Given the description of an element on the screen output the (x, y) to click on. 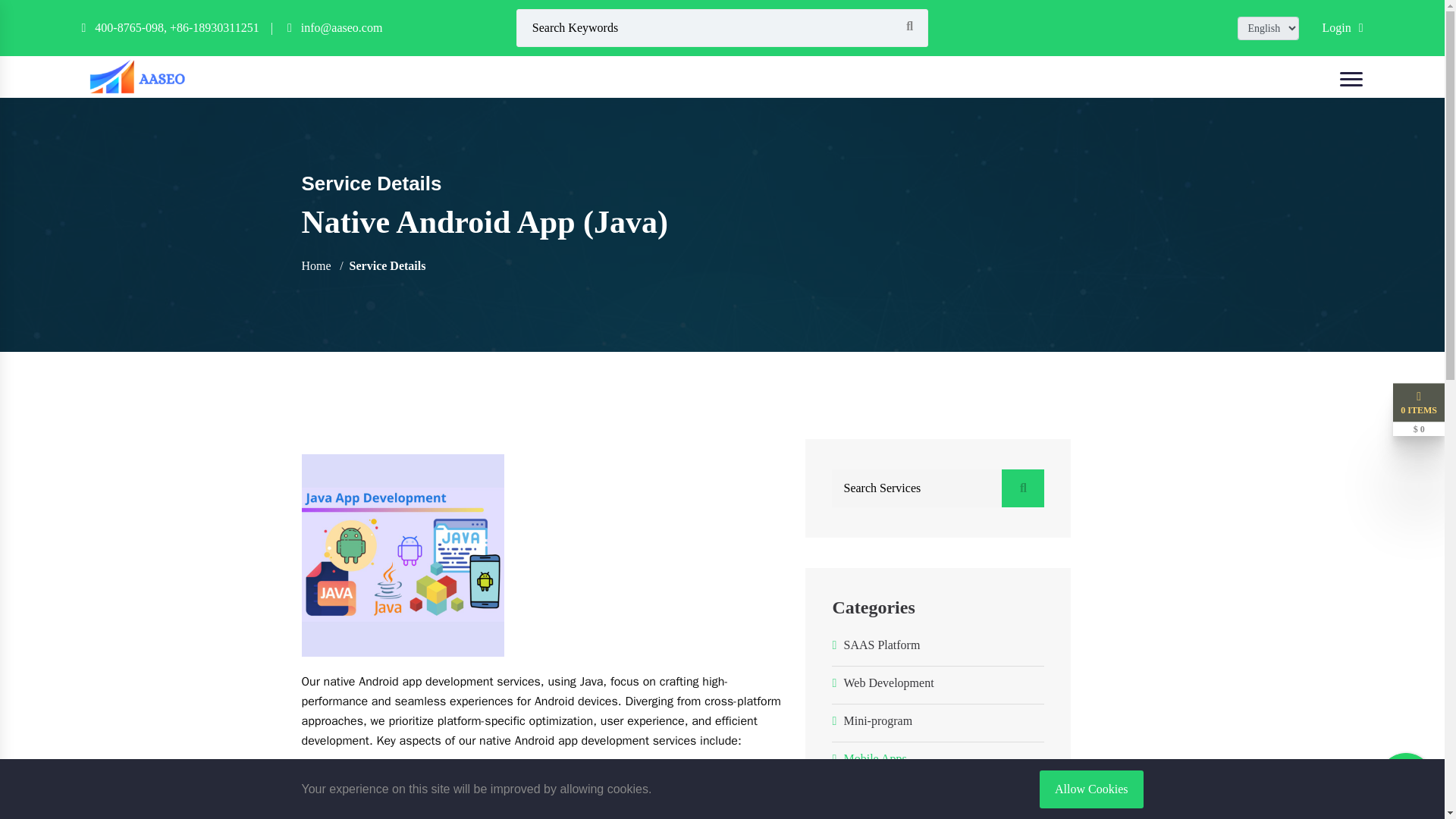
Login (1342, 27)
